Given the description of an element on the screen output the (x, y) to click on. 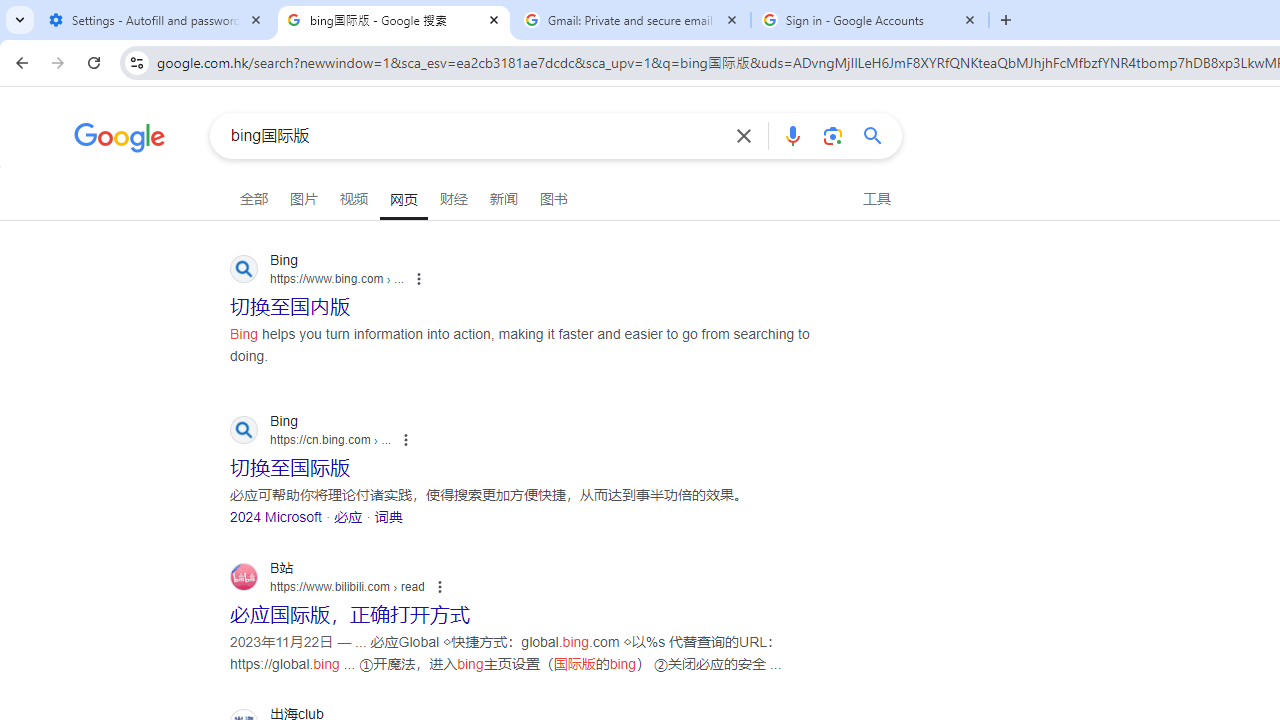
System (10, 11)
Reload (93, 62)
2024 Microsoft (276, 516)
Search tabs (20, 20)
